Given the description of an element on the screen output the (x, y) to click on. 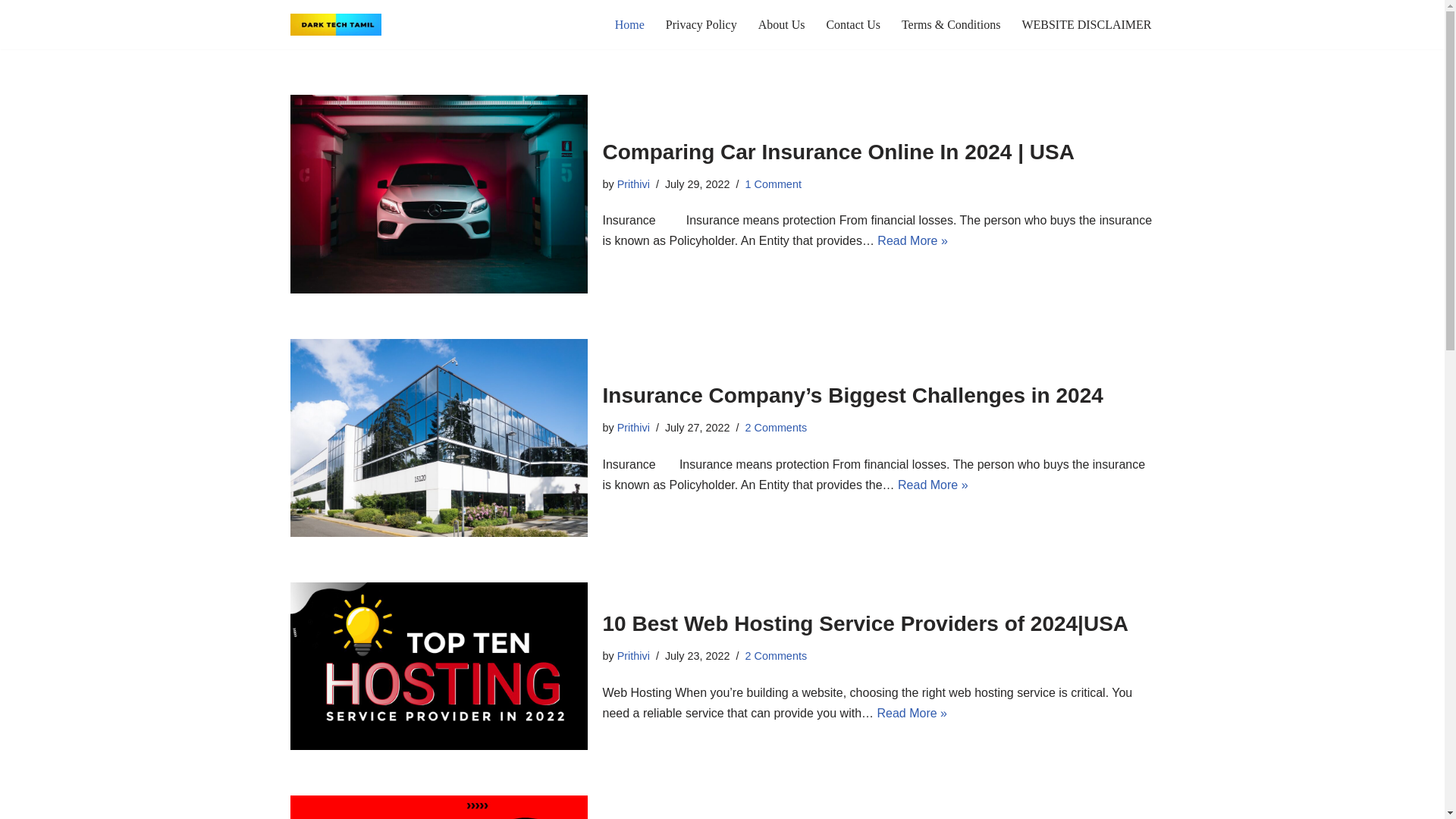
Privacy Policy (700, 24)
WEBSITE DISCLAIMER (1086, 24)
Contact Us (852, 24)
Skip to content (11, 31)
2 Comments (775, 427)
Home (629, 24)
Prithivi (633, 655)
About Us (781, 24)
Prithivi (633, 427)
Prithivi (633, 184)
1 Comment (772, 184)
Posts by Prithivi (633, 184)
Posts by Prithivi (633, 427)
Posts by Prithivi (633, 655)
2 Comments (775, 655)
